Given the description of an element on the screen output the (x, y) to click on. 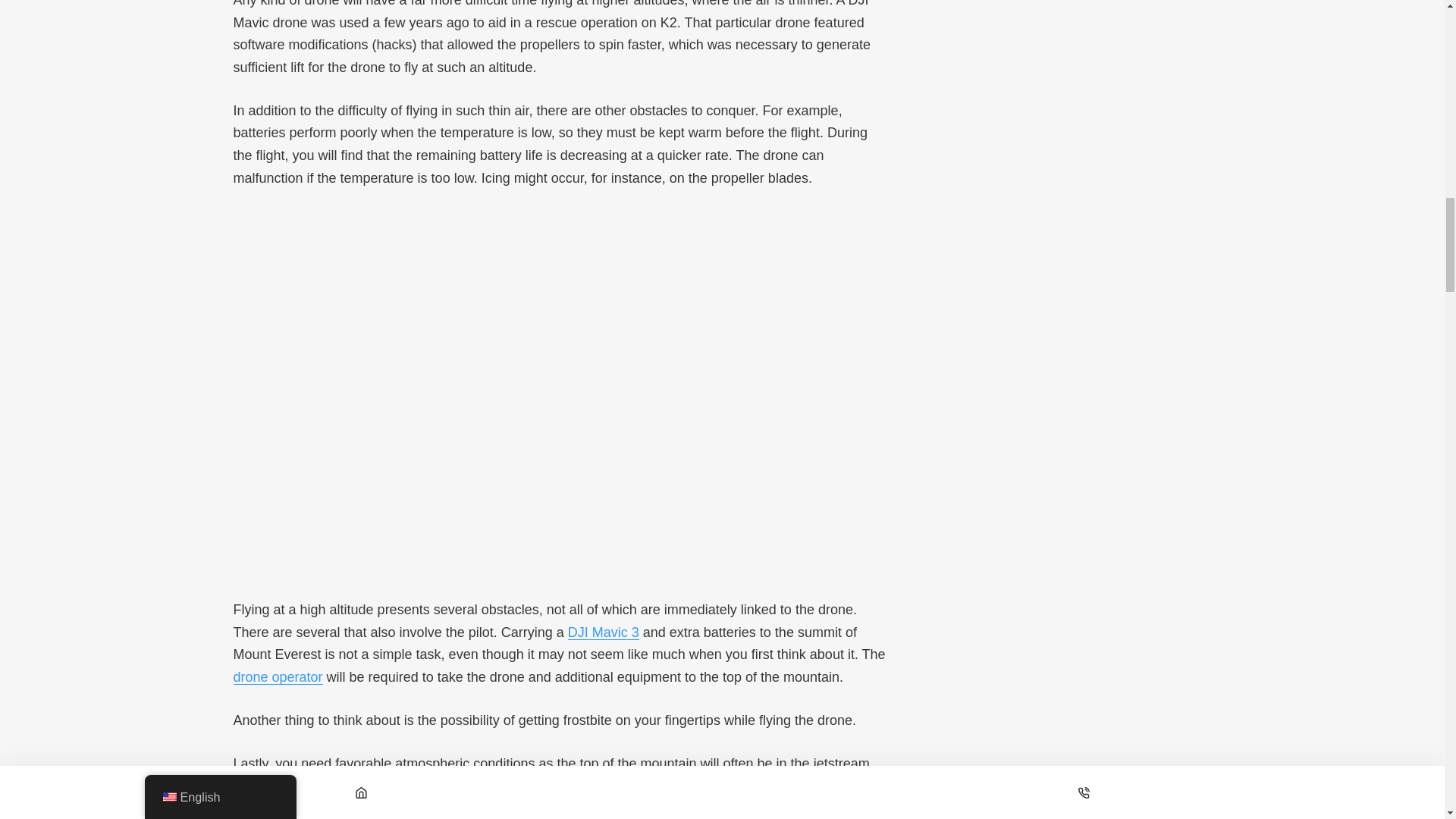
Pilot Institute (277, 676)
DJI Mavic 3 (603, 631)
